Given the description of an element on the screen output the (x, y) to click on. 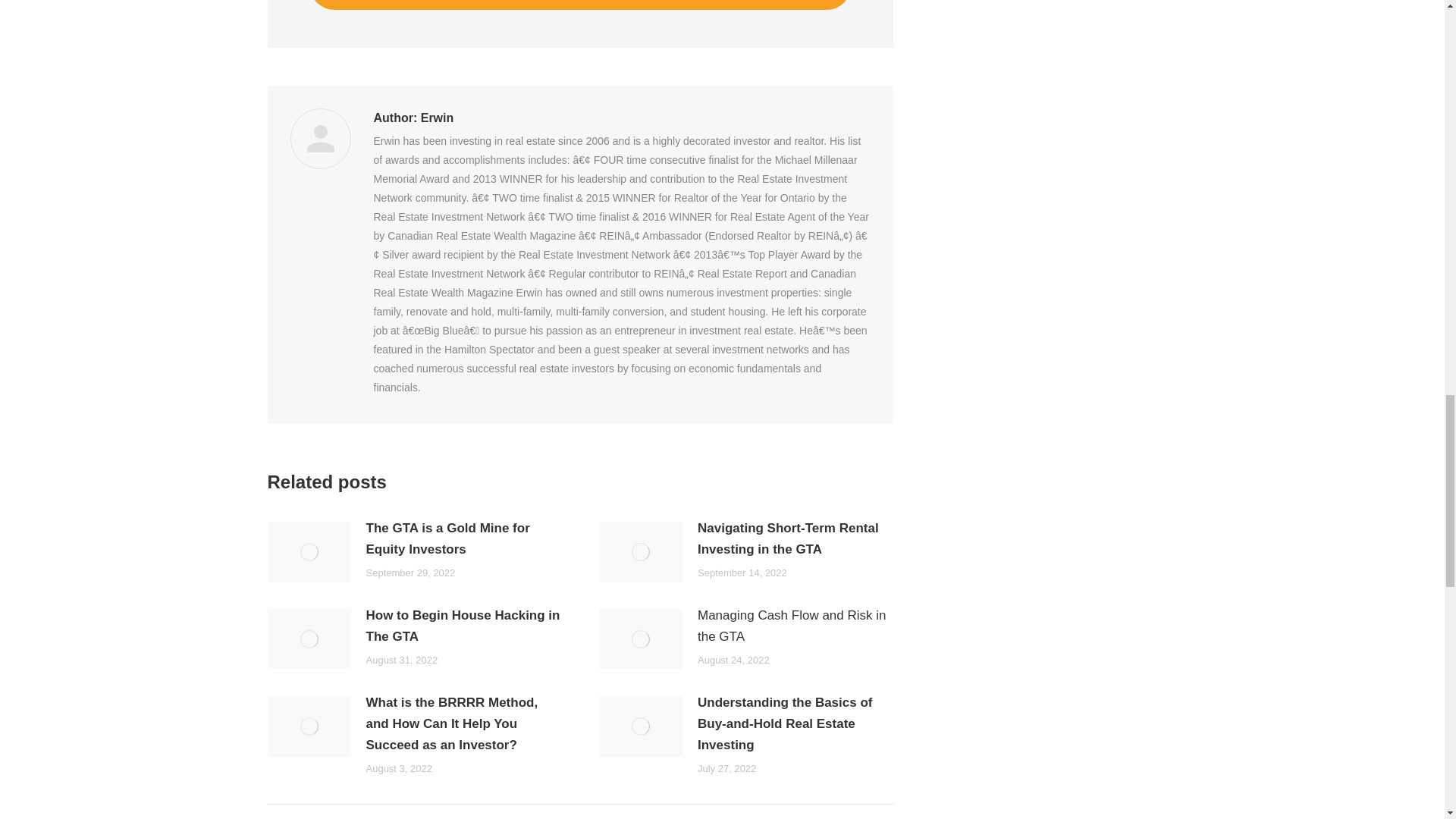
Managing Cash Flow and Risk in the GTA (795, 626)
SIGN UP NOW (579, 4)
Navigating Short-Term Rental Investing in the GTA (795, 538)
The GTA is a Gold Mine for Equity Investors (462, 538)
How to Begin House Hacking in The GTA (462, 626)
